Given the description of an element on the screen output the (x, y) to click on. 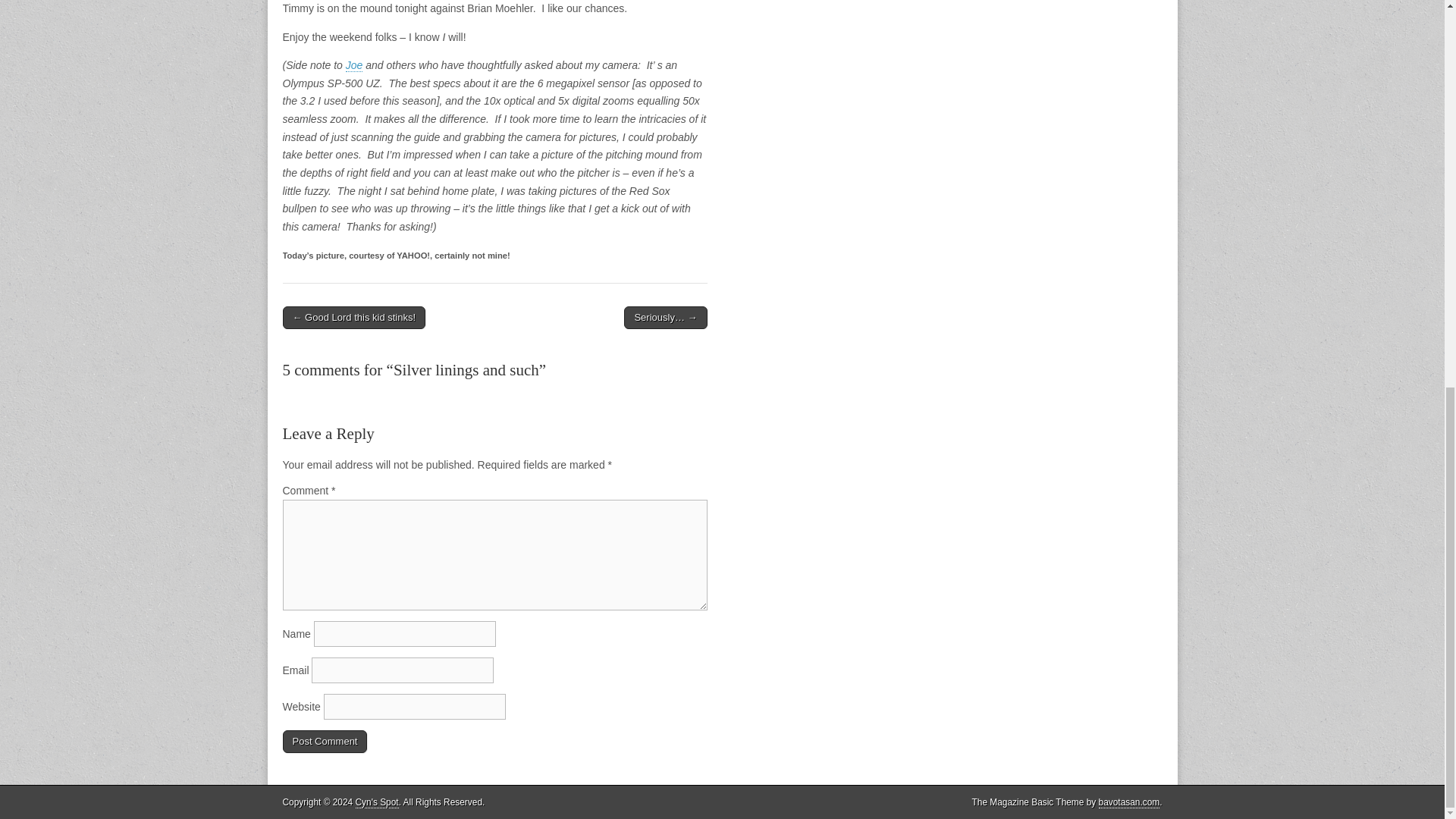
Post Comment (324, 741)
bavotasan.com (1129, 802)
Post Comment (324, 741)
Cyn's Spot (376, 802)
Joe (354, 65)
